Given the description of an element on the screen output the (x, y) to click on. 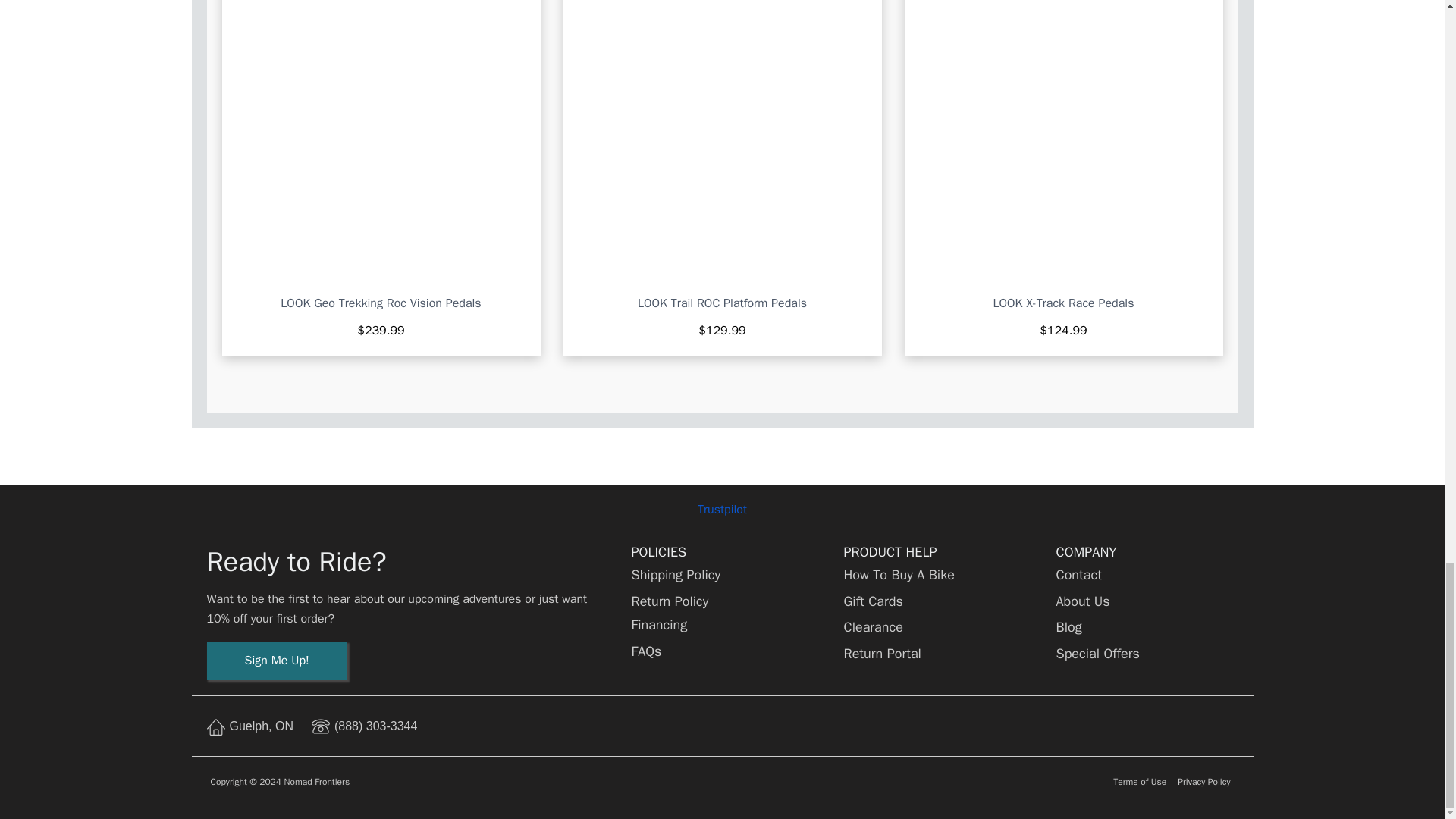
LOOK Geo Trekking Roc Vision Pedals (380, 303)
